Given the description of an element on the screen output the (x, y) to click on. 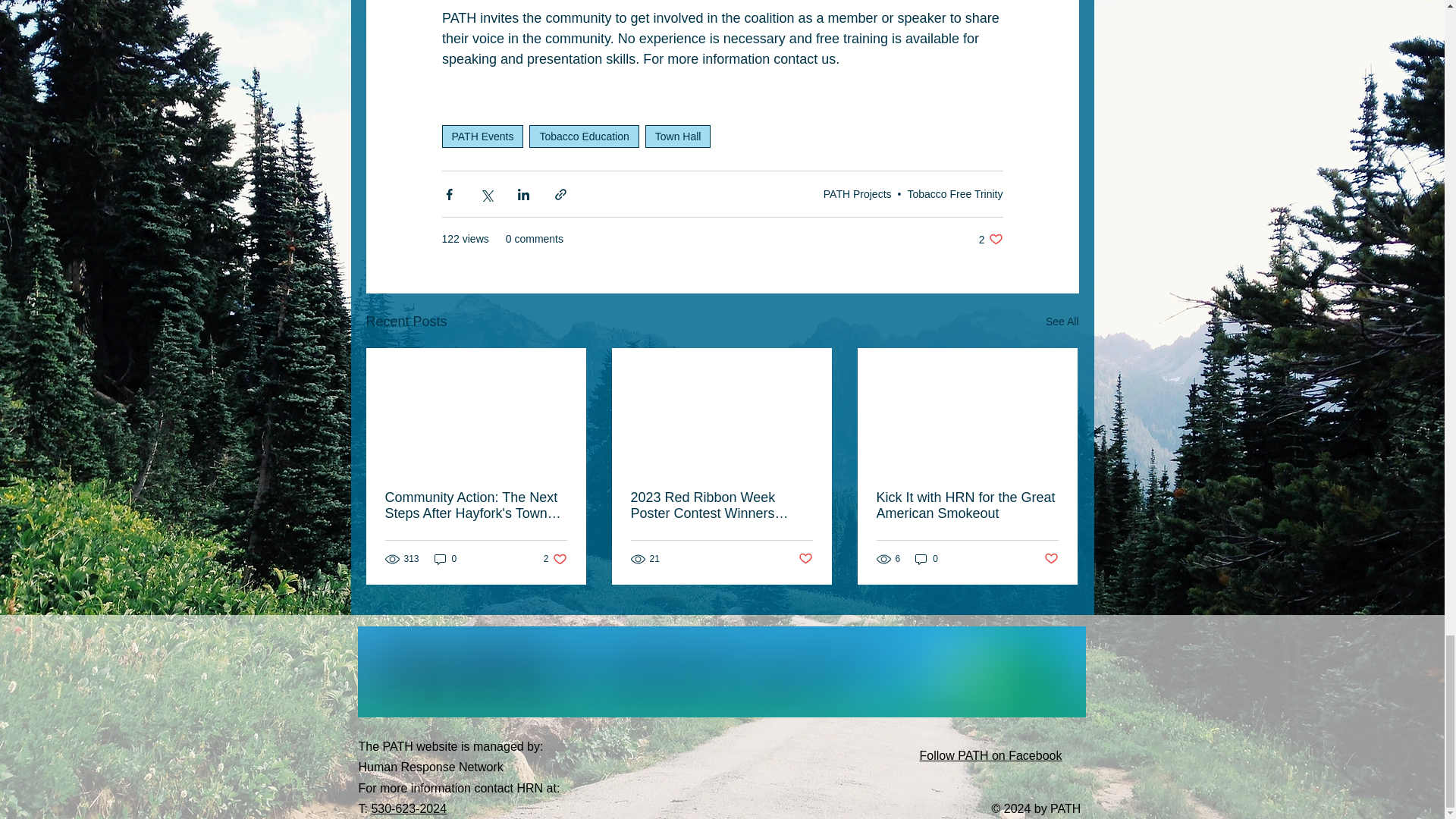
PATH Projects (857, 193)
See All (1061, 321)
0 (926, 559)
Kick It with HRN for the Great American Smokeout (967, 505)
PATH Events (481, 136)
Town Hall (678, 136)
Post not marked as liked (804, 559)
Tobacco Free Trinity (955, 193)
530-623-2024 (555, 559)
Follow PATH on Facebook (408, 808)
Tobacco Education (989, 755)
Post not marked as liked (584, 136)
